Given the description of an element on the screen output the (x, y) to click on. 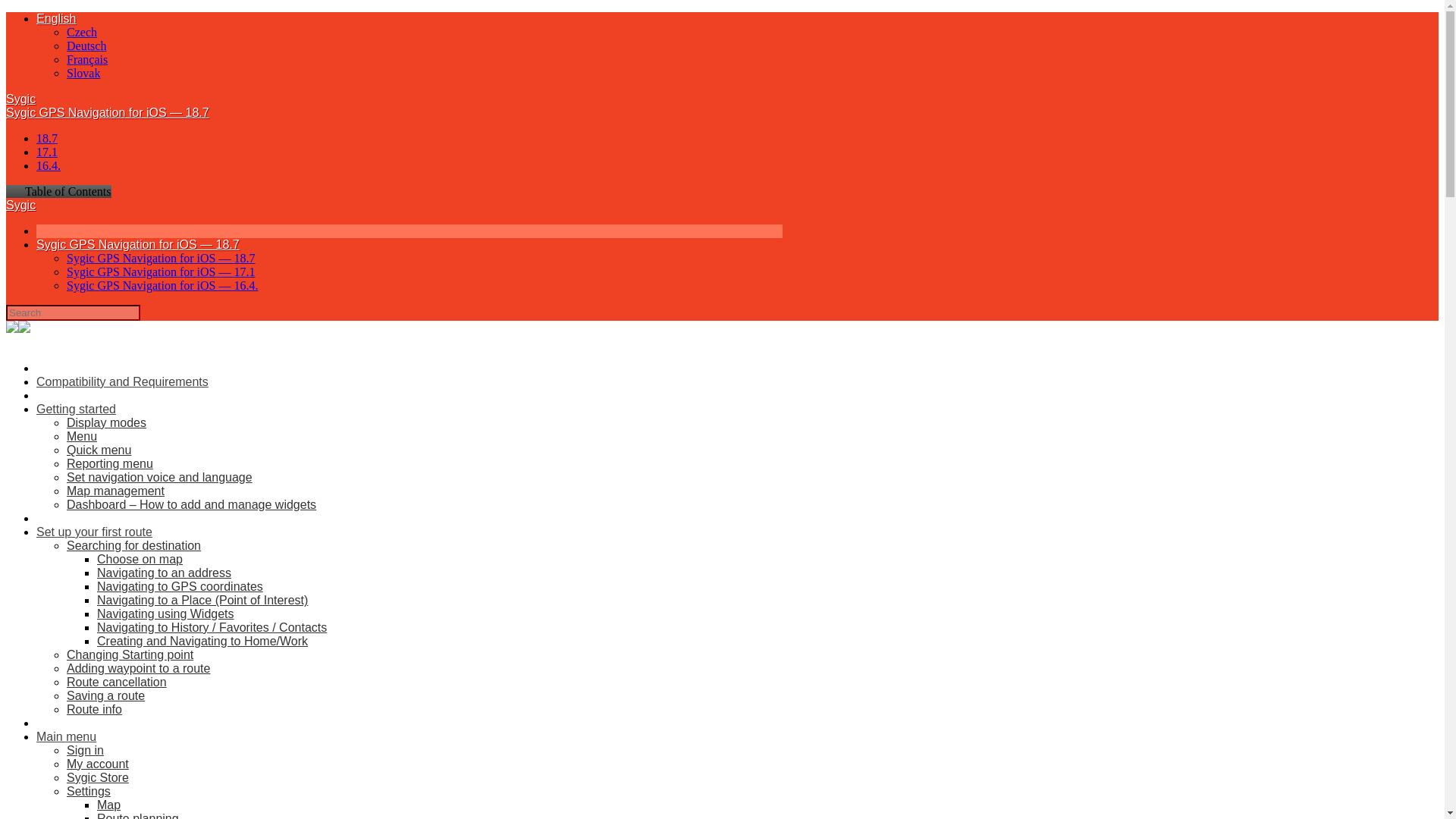
Adding waypoint to a route (137, 667)
Set up your first route (94, 531)
Deutsch (86, 45)
Navigating to an address (164, 572)
18.7 (47, 137)
17.1 (47, 151)
Quick menu (98, 449)
Navigating to GPS coordinates (180, 585)
English (55, 18)
16.4. (48, 164)
Display modes (106, 422)
Route cancellation (116, 681)
Table of Contents (58, 191)
Set navigation voice and language (158, 477)
Searching for destination (133, 545)
